Given the description of an element on the screen output the (x, y) to click on. 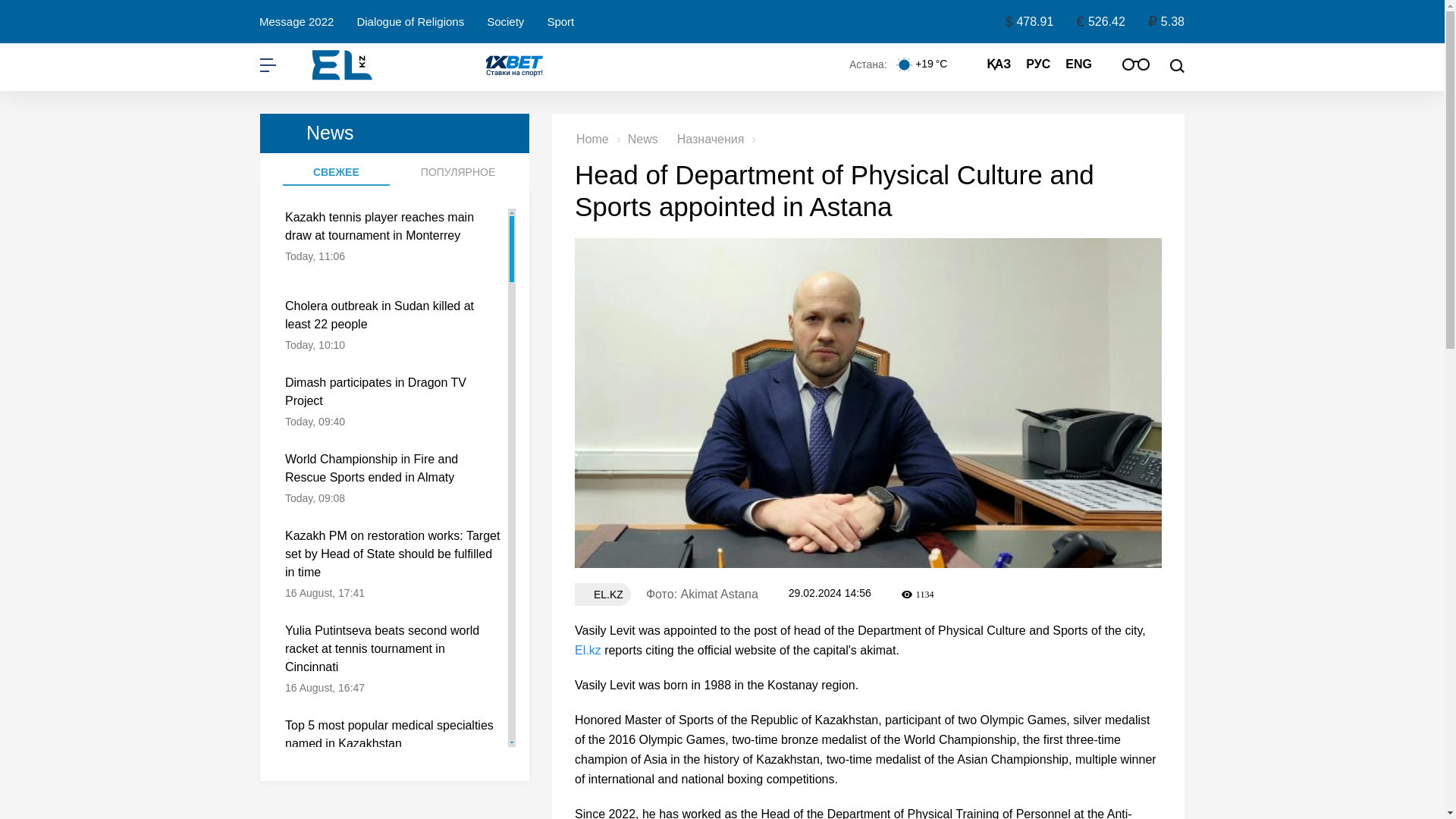
News (642, 138)
Sport (560, 22)
Dialogue of Religions (410, 22)
Home (592, 138)
Version for the visually impaired (1136, 63)
Message 2022 (296, 22)
Society (505, 22)
ENG (1078, 64)
News (394, 133)
